Given the description of an element on the screen output the (x, y) to click on. 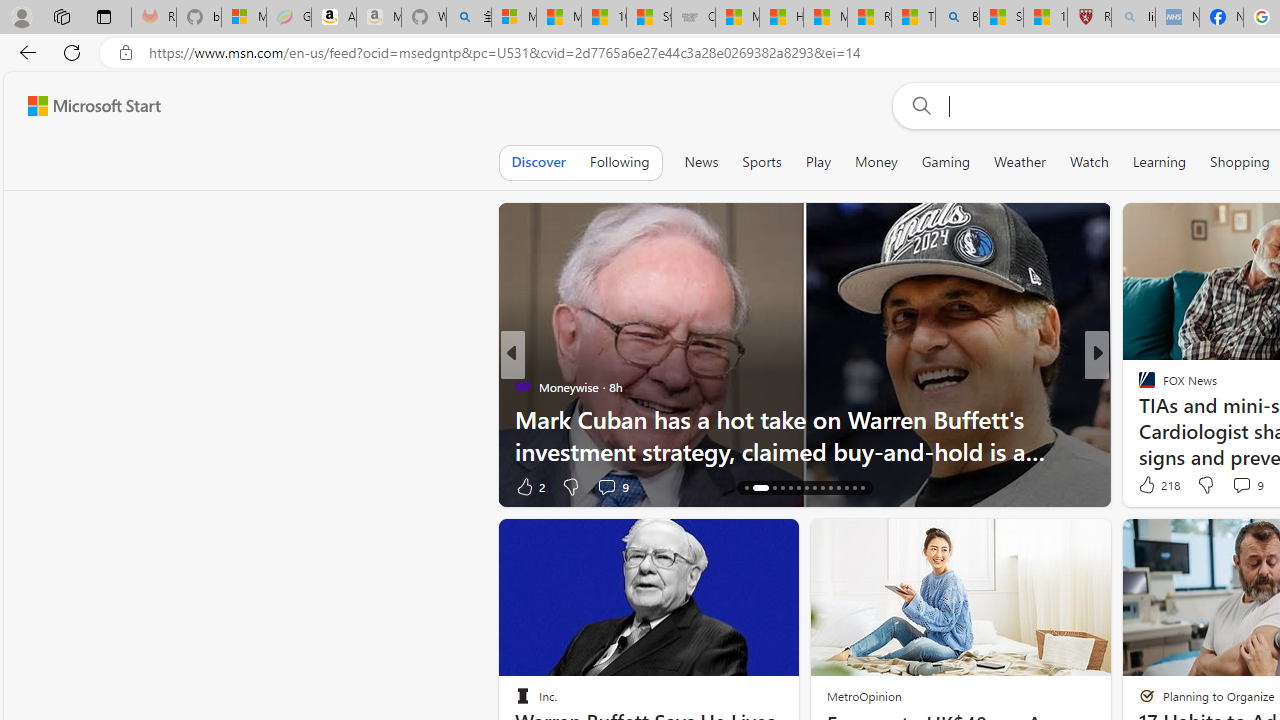
604 Like (1151, 486)
Medical Xpress (1138, 386)
Parade (1138, 386)
View comments 9 Comment (1247, 484)
ABC News (1138, 386)
The Mirror US (1138, 386)
AutomationID: tab-17 (768, 487)
Tasting Table (1138, 386)
View comments 23 Comment (1244, 486)
